Given the description of an element on the screen output the (x, y) to click on. 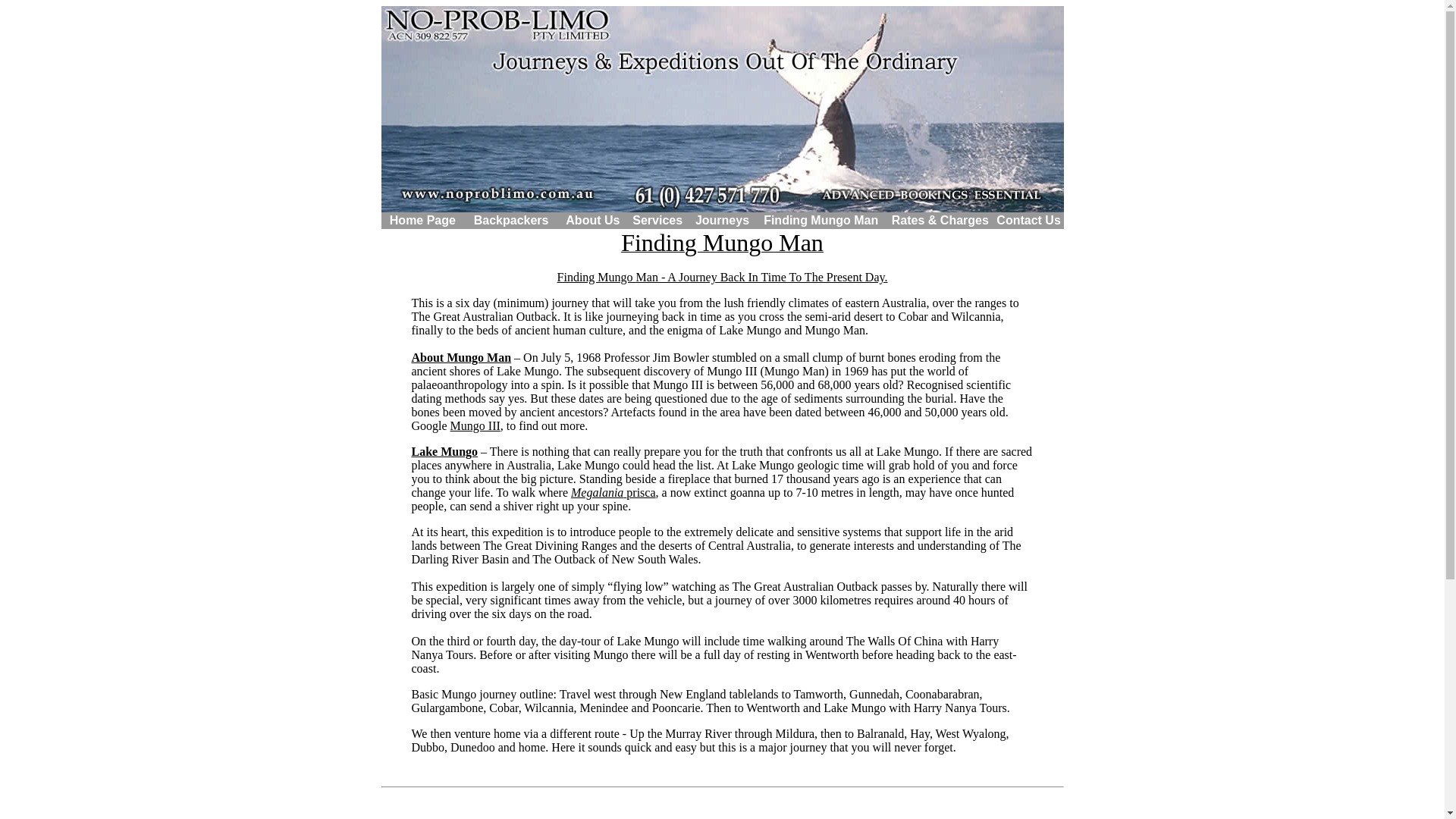
About Us Element type: text (592, 219)
Contact Us Element type: text (1028, 219)
Journeys Element type: text (722, 219)
http://en.wikipedia.org/wiki/Megalania Element type: text (728, 505)
Backpackers Element type: text (511, 219)
Finding Mungo Man Element type: text (820, 219)
Services Element type: text (657, 219)
http://www-personal.une.edu.au/~pbrown3/LM3.html Element type: text (721, 425)
Rates & Charges Element type: text (939, 219)
Home Page Element type: text (422, 219)
